Given the description of an element on the screen output the (x, y) to click on. 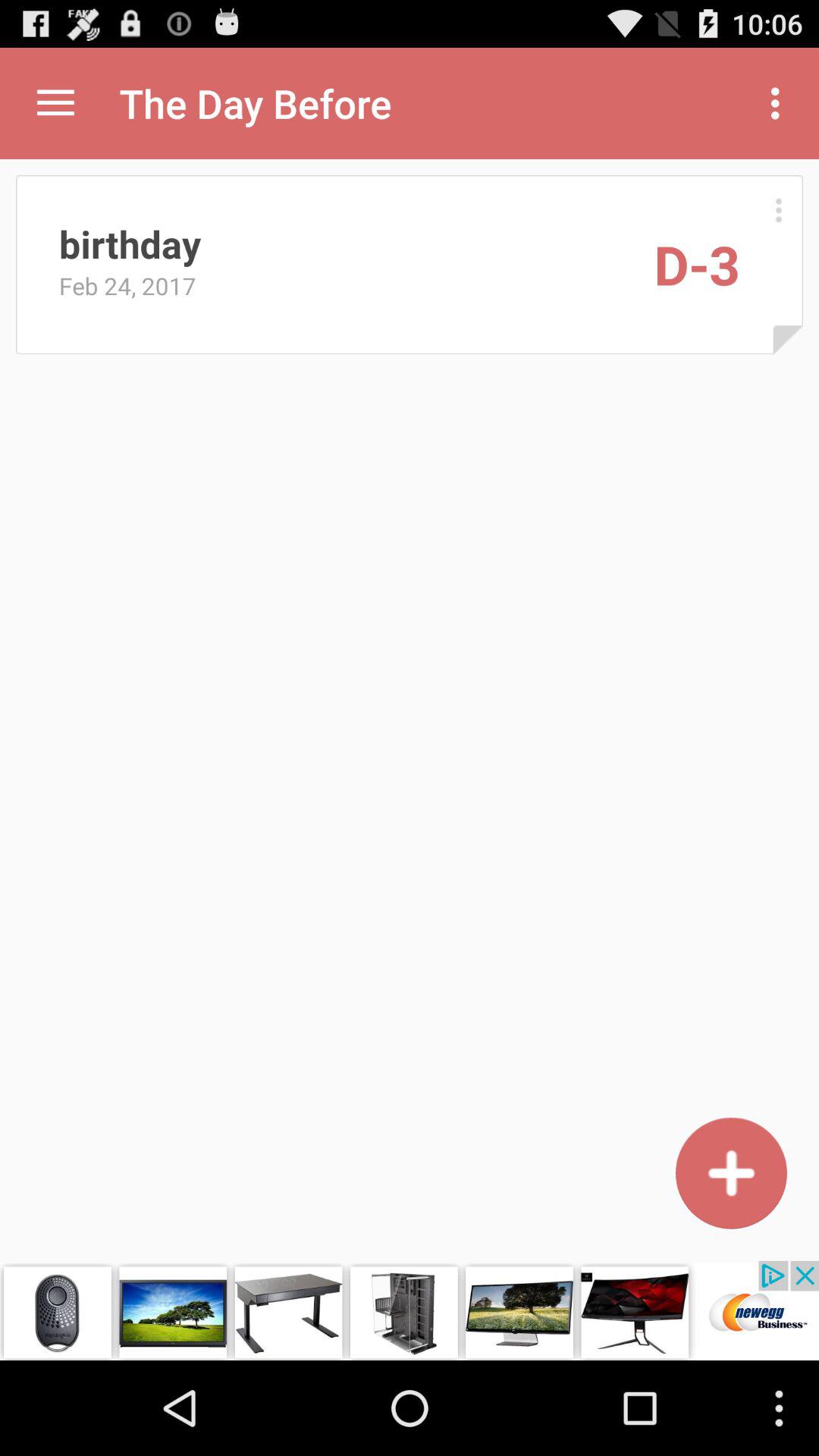
go to manu (777, 209)
